Given the description of an element on the screen output the (x, y) to click on. 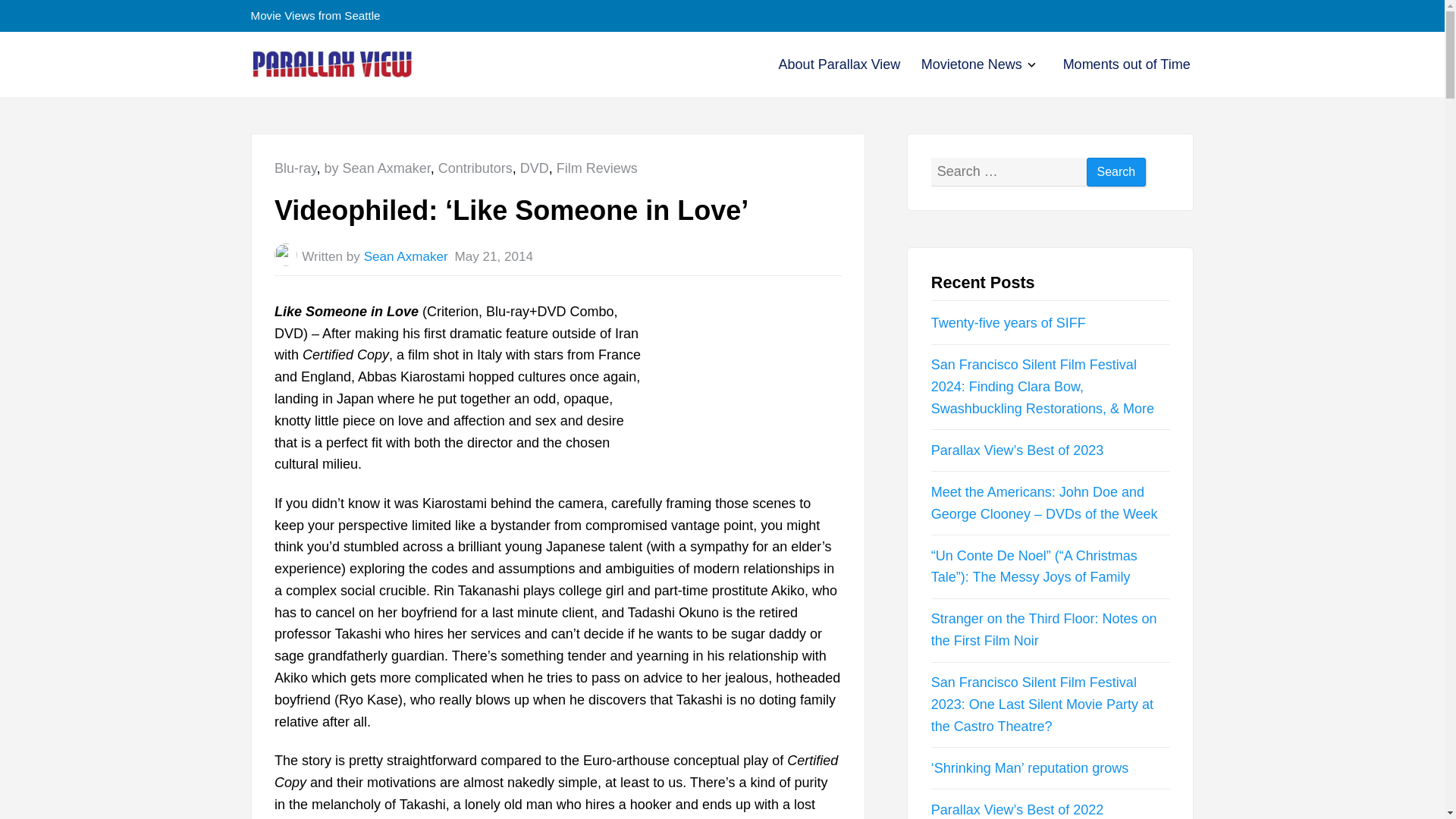
Search (1115, 172)
Stranger on the Third Floor: Notes on the First Film Noir (1044, 629)
Search (1115, 172)
Blu-ray (296, 168)
Movietone News (971, 64)
Search (1115, 172)
Sean Axmaker (406, 256)
Moments out of Time (1029, 66)
Moments out of Time (1126, 64)
Film Reviews (1126, 64)
About Parallax View (596, 168)
About Parallax View (839, 64)
Twenty-five years of SIFF (839, 64)
May 21, 2014 (1008, 322)
